Given the description of an element on the screen output the (x, y) to click on. 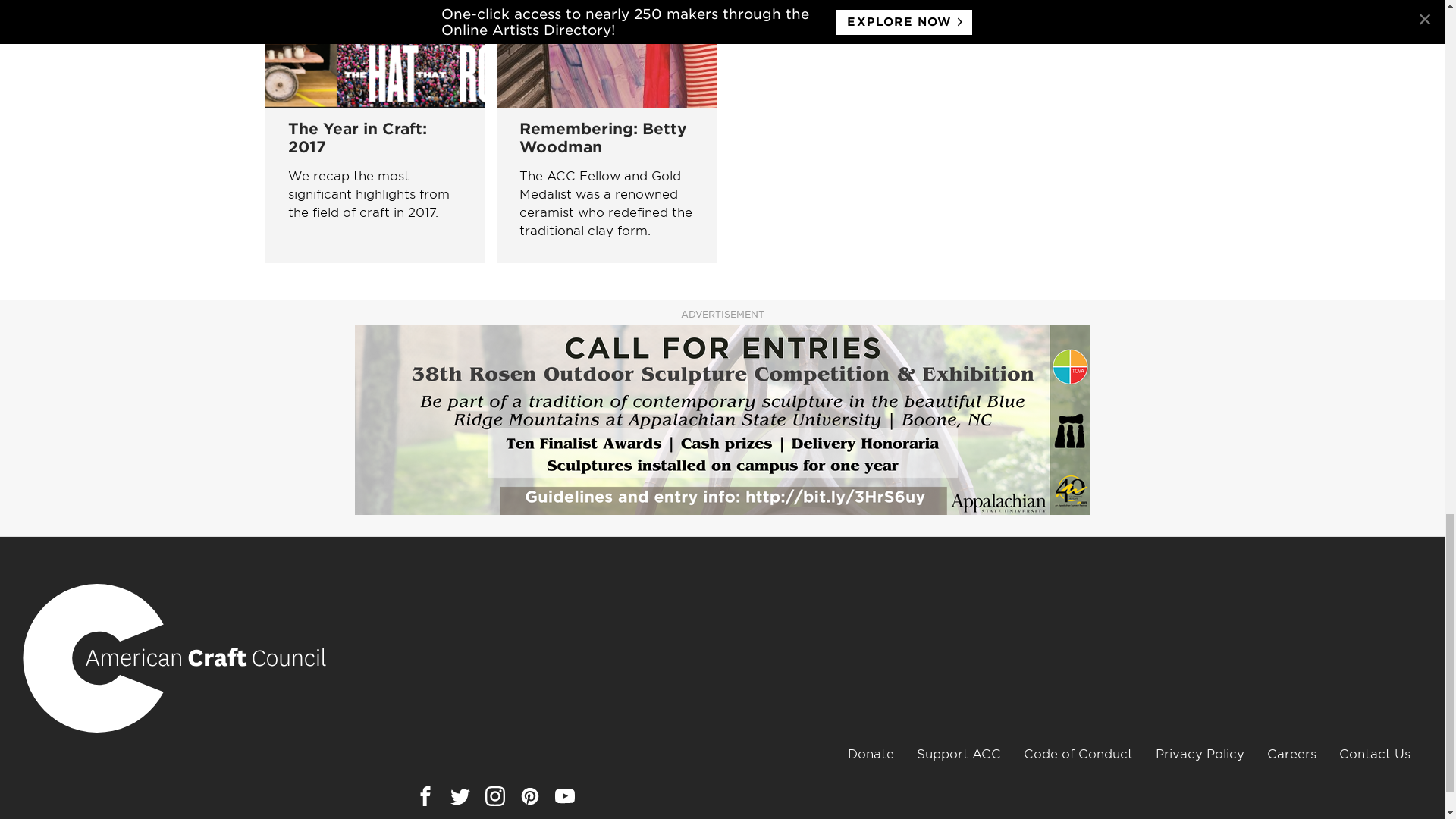
ACC on Instagram (494, 795)
ACC on Pinterest (529, 795)
ACC on YouTube (564, 795)
ACC on Facebook (424, 795)
Home (174, 657)
ACC on Twitter (459, 795)
Betty Woodman (606, 54)
